Given the description of an element on the screen output the (x, y) to click on. 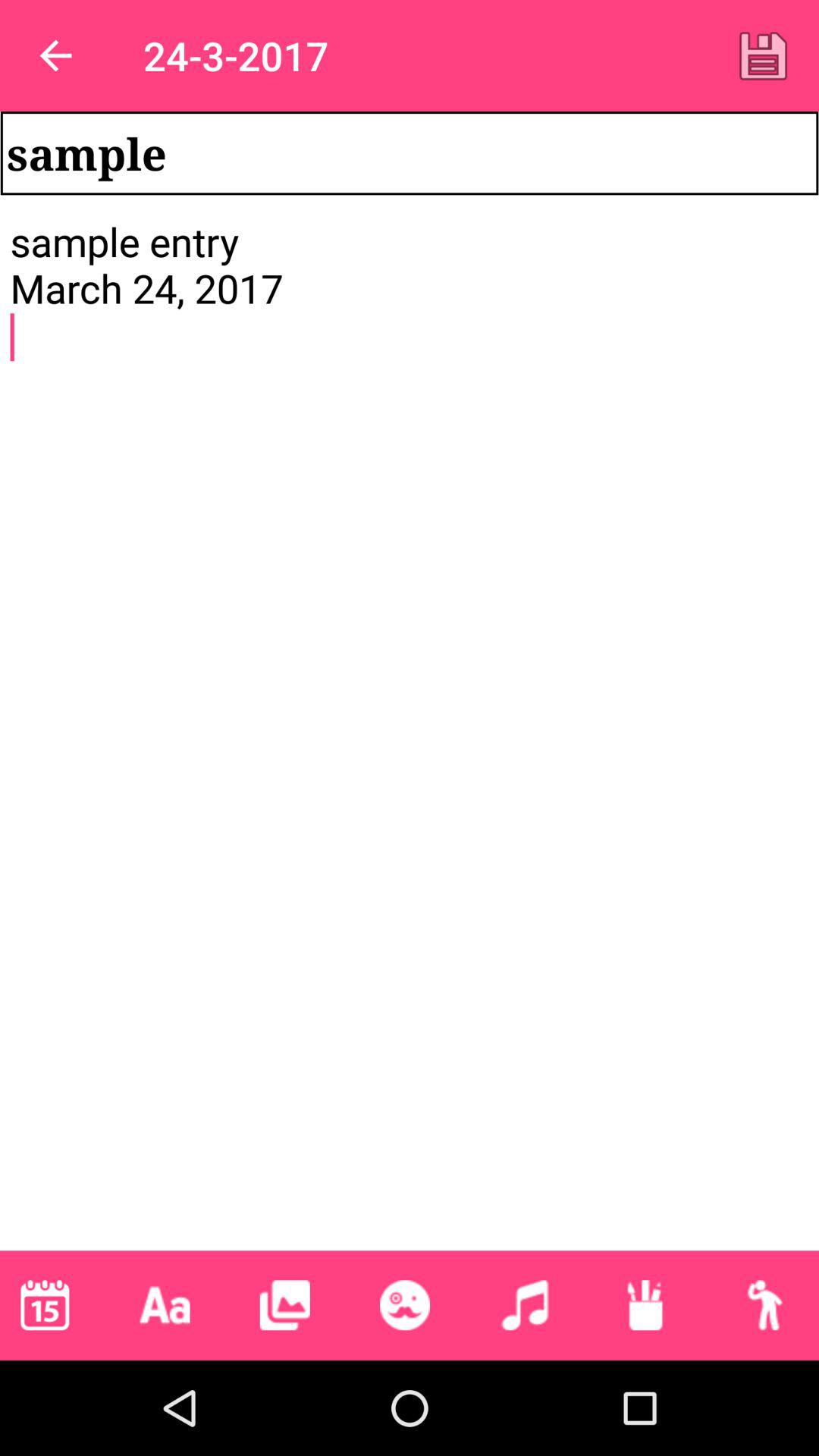
select the item below the sample entry march item (524, 1305)
